Given the description of an element on the screen output the (x, y) to click on. 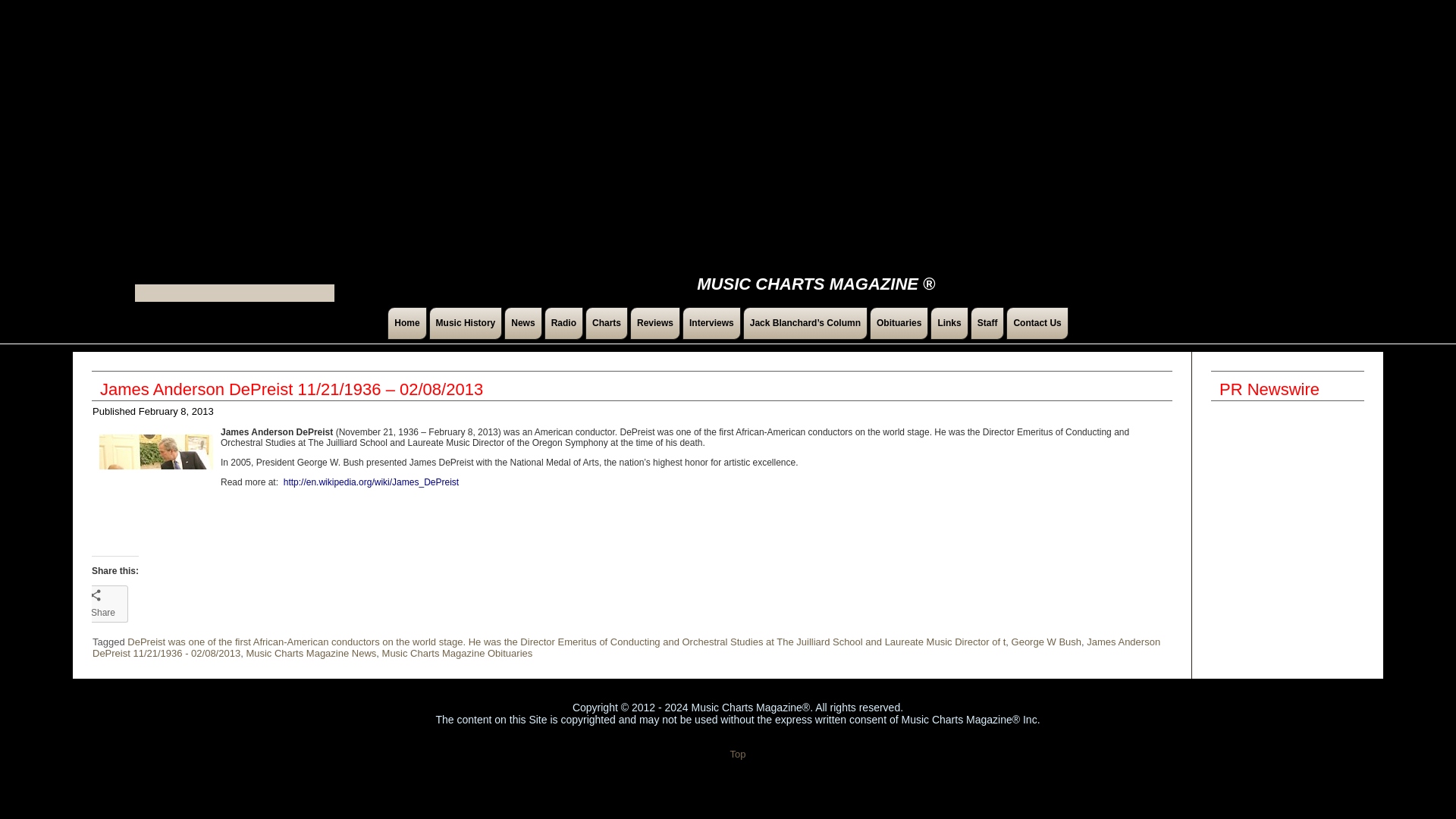
News (522, 323)
Home (406, 323)
Music History (465, 323)
Reviews (654, 323)
Radio (563, 323)
Music History (465, 323)
Interviews (711, 323)
Radio (563, 323)
Charts (606, 323)
News (522, 323)
